Given the description of an element on the screen output the (x, y) to click on. 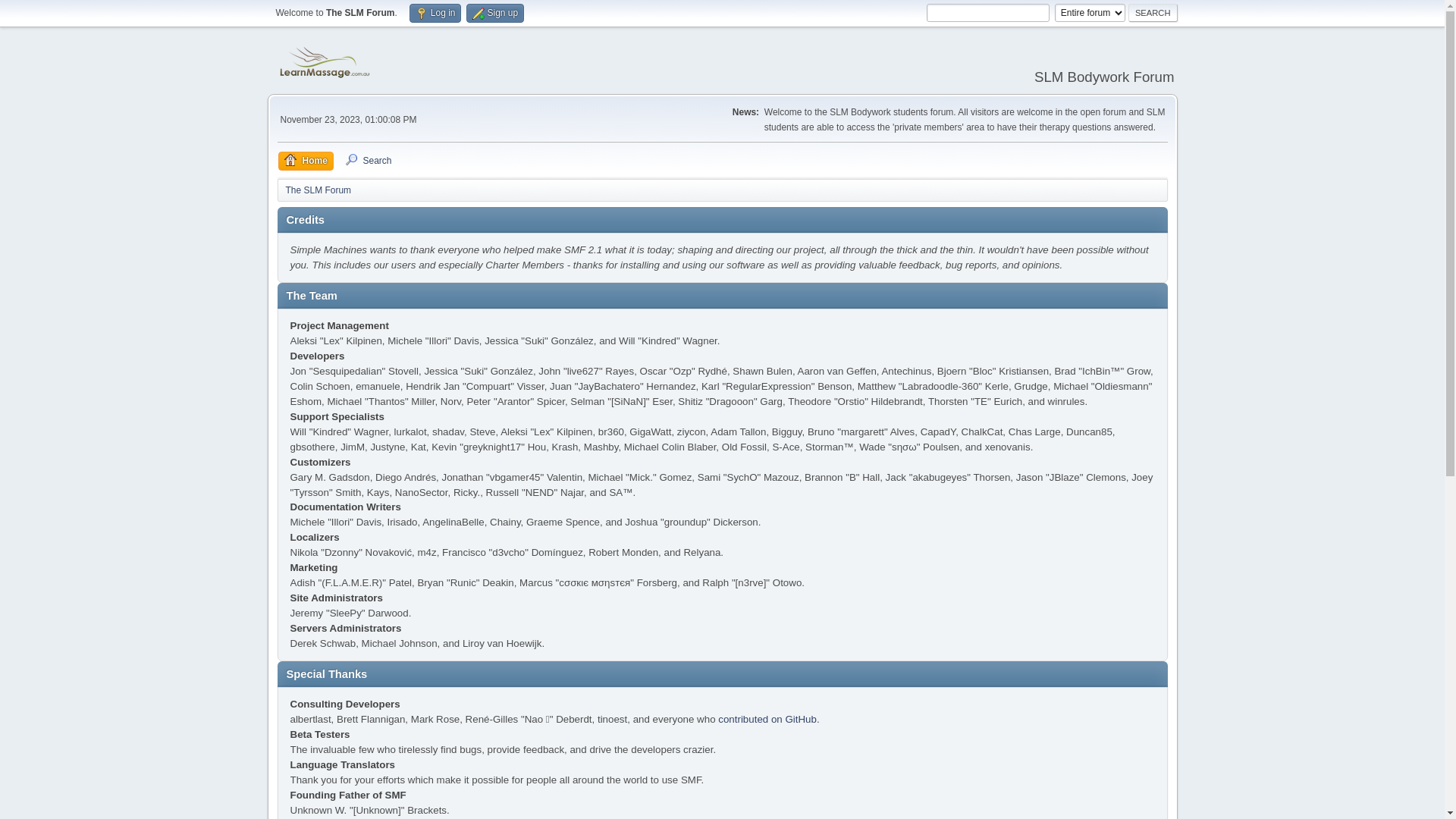
The SLM Forum Element type: text (318, 187)
Search Element type: text (367, 160)
Sign up Element type: text (495, 12)
Log in Element type: text (435, 12)
contributed on GitHub Element type: text (767, 718)
Home Element type: text (304, 160)
Search Element type: text (1152, 12)
